Given the description of an element on the screen output the (x, y) to click on. 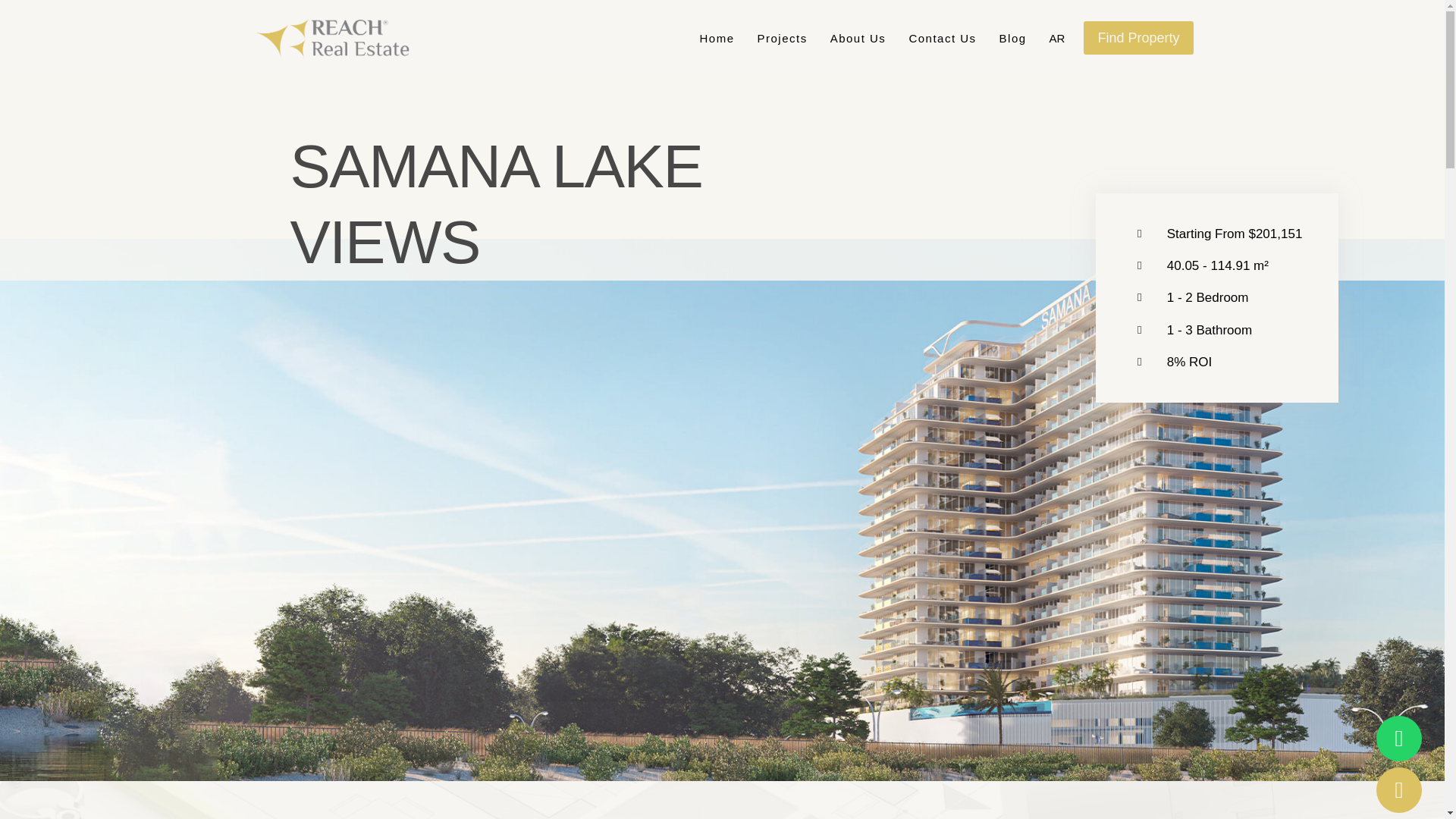
Blog (1013, 37)
Find Property (1137, 37)
Home (716, 37)
Projects (781, 37)
Contact Us (941, 37)
About Us (858, 37)
